Given the description of an element on the screen output the (x, y) to click on. 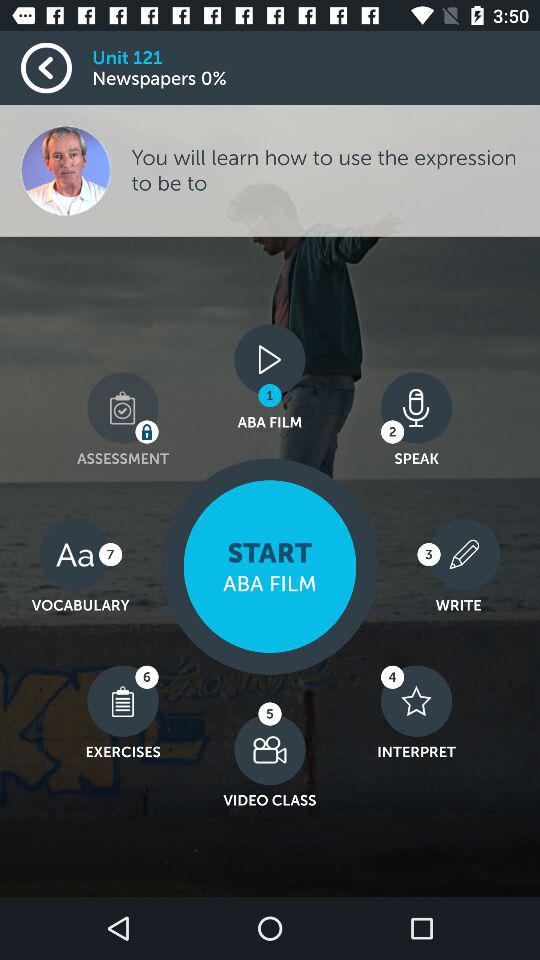
select the icon next to unit 121 icon (56, 67)
